Given the description of an element on the screen output the (x, y) to click on. 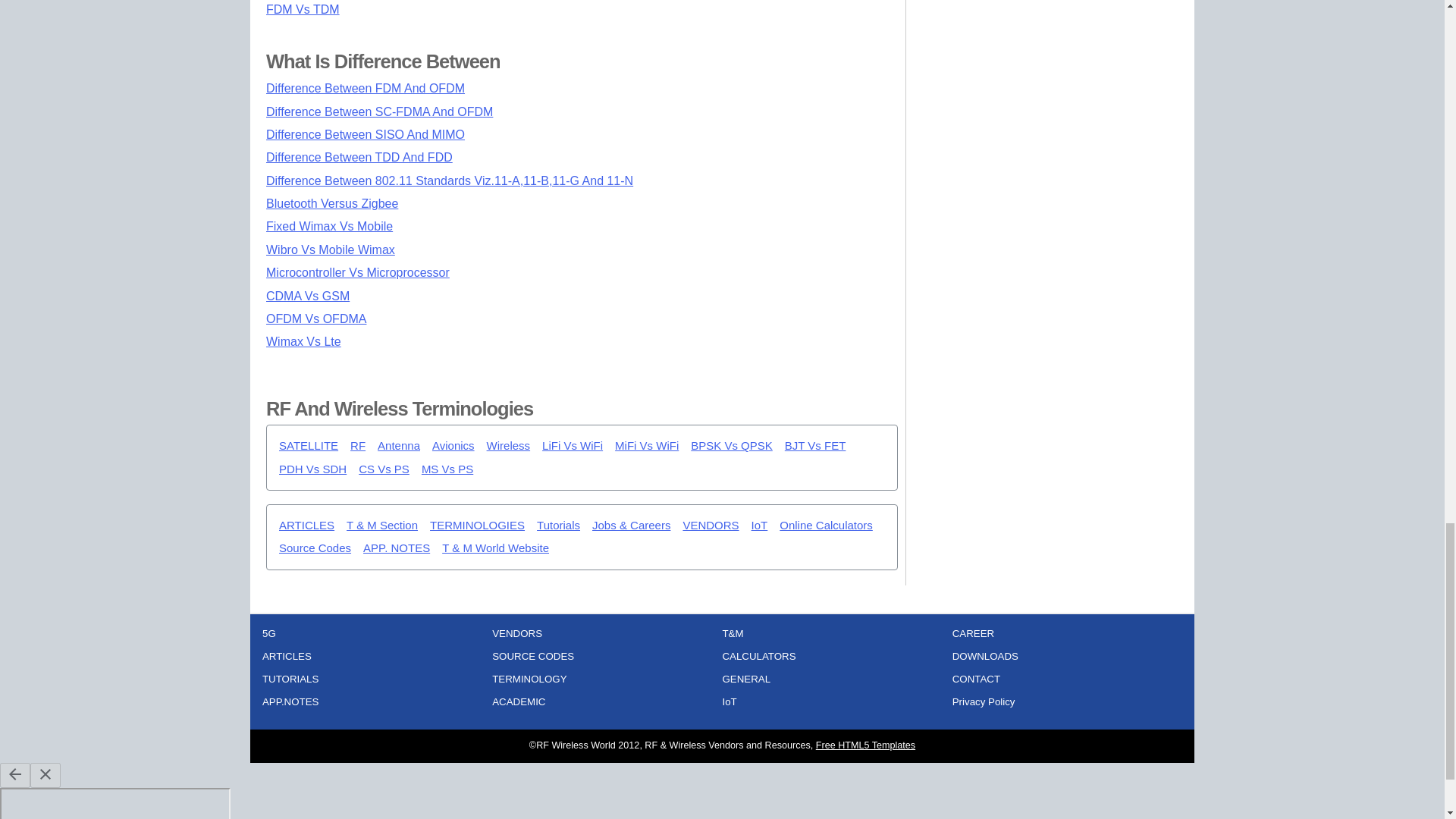
OFDM Vs OFDMA (316, 318)
Difference Between TDD And FDD (359, 156)
CDMA Vs GSM (307, 295)
Difference Between SISO And MIMO (365, 133)
Difference between SC-FDMA and OFDM (379, 110)
CDMA versus GSM Basic Differences (307, 295)
difference between FDM and OFDM (365, 88)
Difference between SISO and MIMO (365, 133)
Bluetooth Versus Zigbee (331, 203)
Avionics (453, 446)
FDM Vs TDM (302, 9)
